Given the description of an element on the screen output the (x, y) to click on. 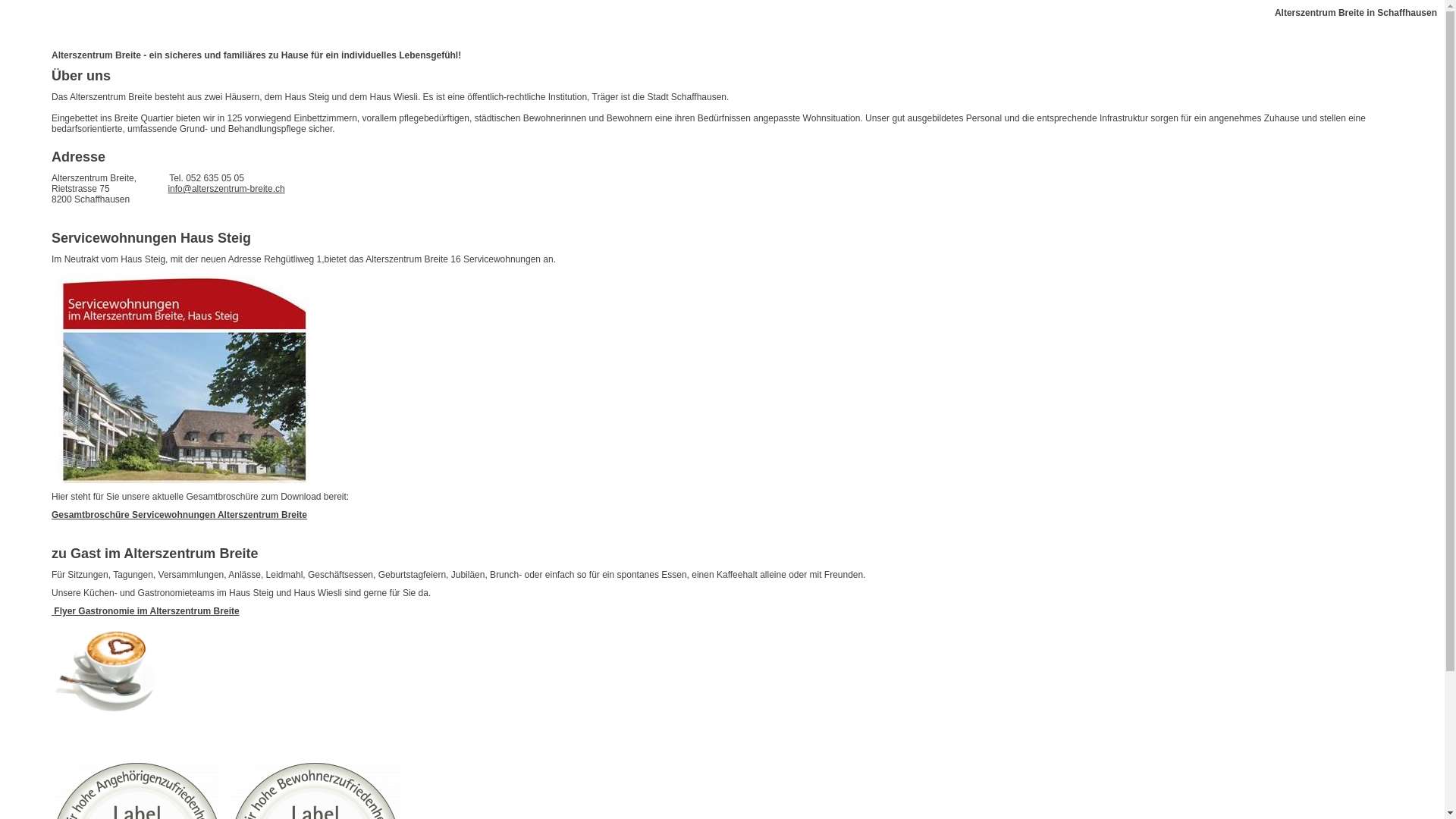
 Flyer Gastronomie im Alterszentrum Breite Element type: text (145, 610)
info@alterszentrum-breite.ch Element type: text (225, 188)
